Given the description of an element on the screen output the (x, y) to click on. 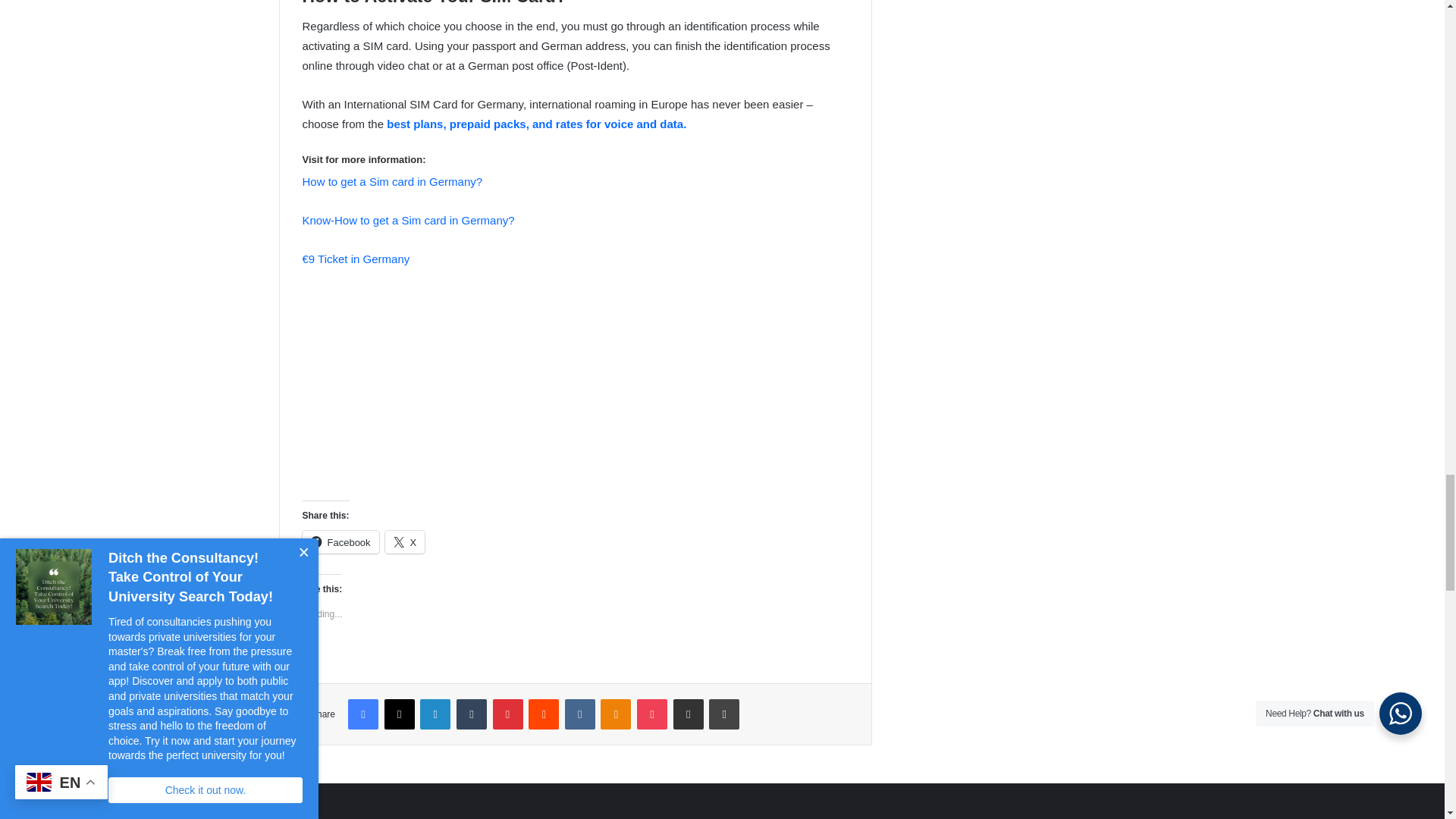
Click to share on Facebook (339, 541)
Click to share on X (405, 541)
